Given the description of an element on the screen output the (x, y) to click on. 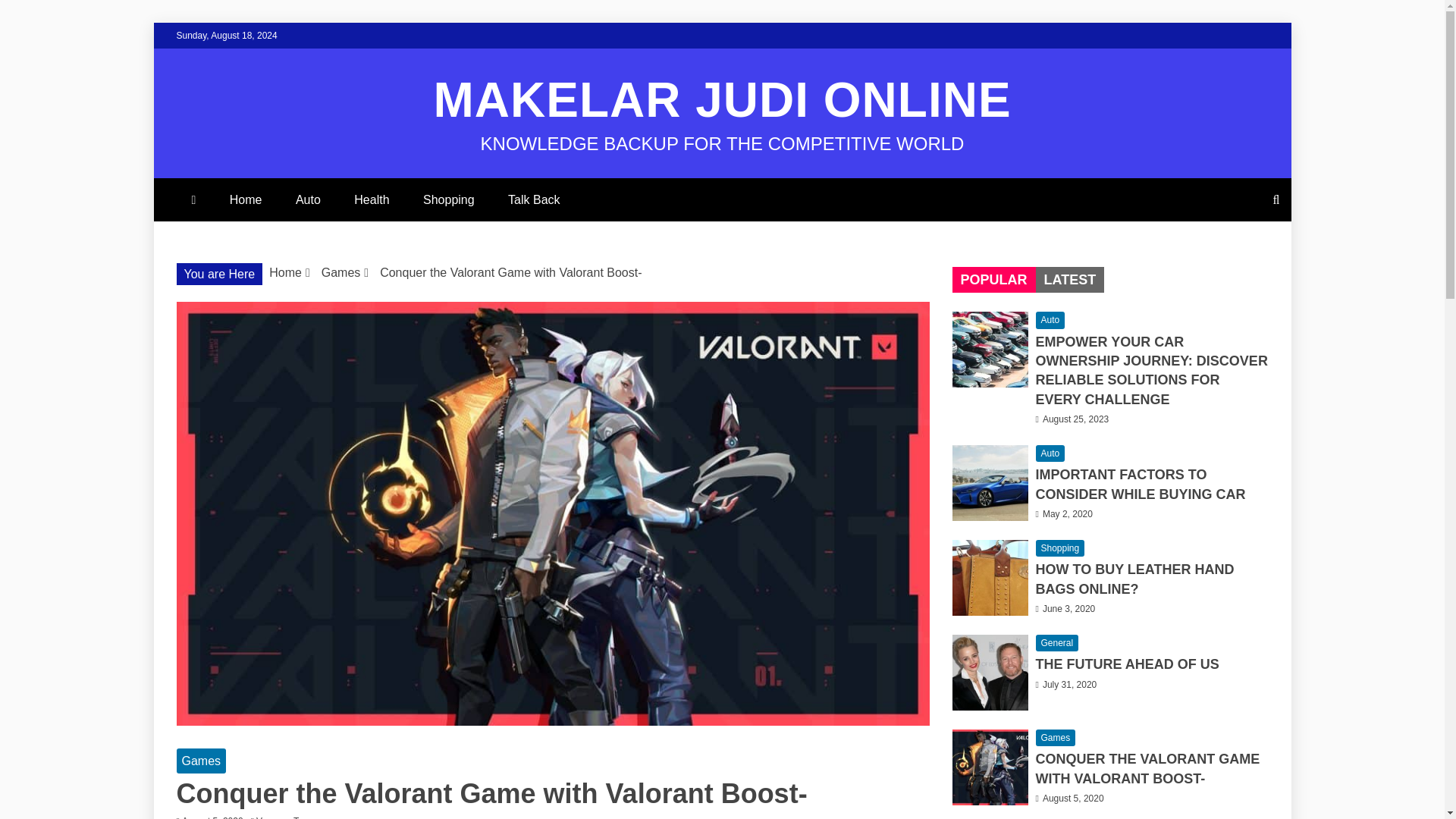
POPULAR (992, 279)
Auto (1050, 453)
Shopping (1059, 548)
Vanessa Tam (287, 817)
Home (246, 199)
IMPORTANT FACTORS TO CONSIDER WHILE BUYING CAR (1140, 483)
Games (341, 272)
Shopping (448, 199)
LATEST (1069, 279)
